Given the description of an element on the screen output the (x, y) to click on. 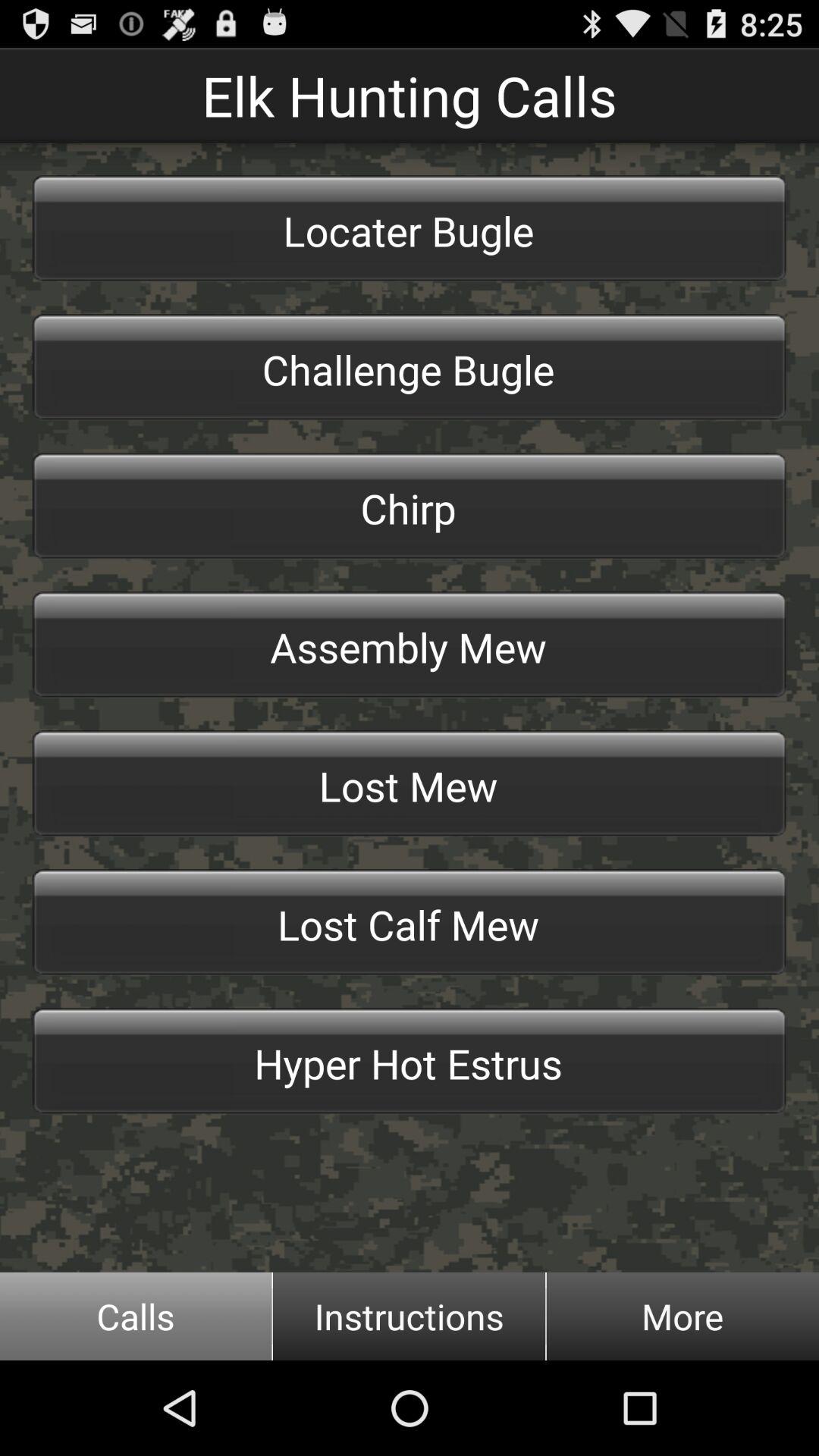
launch challenge bugle item (409, 366)
